Given the description of an element on the screen output the (x, y) to click on. 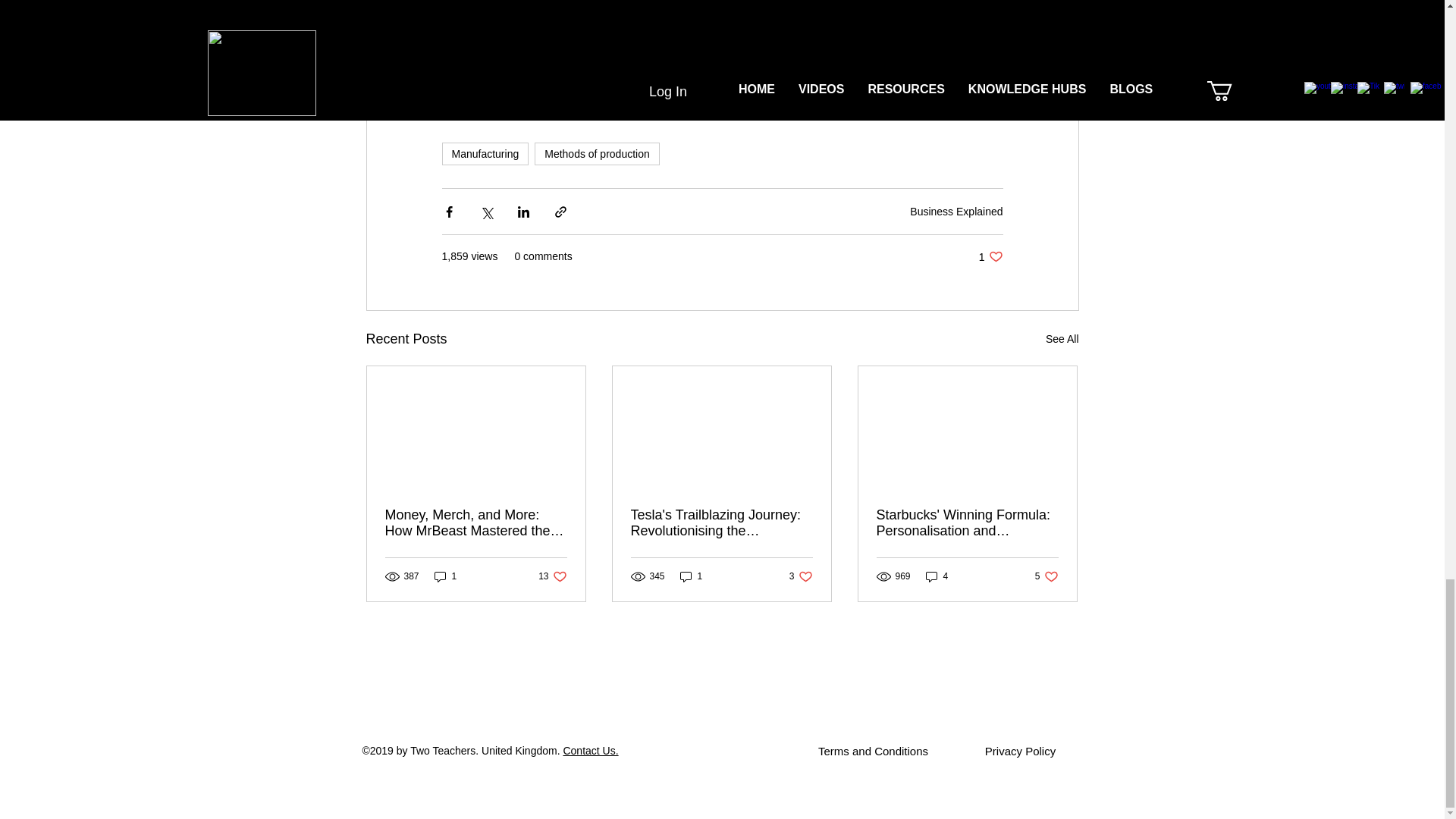
Methods of production (596, 153)
Business Explained (956, 211)
Manufacturing (484, 153)
